Given the description of an element on the screen output the (x, y) to click on. 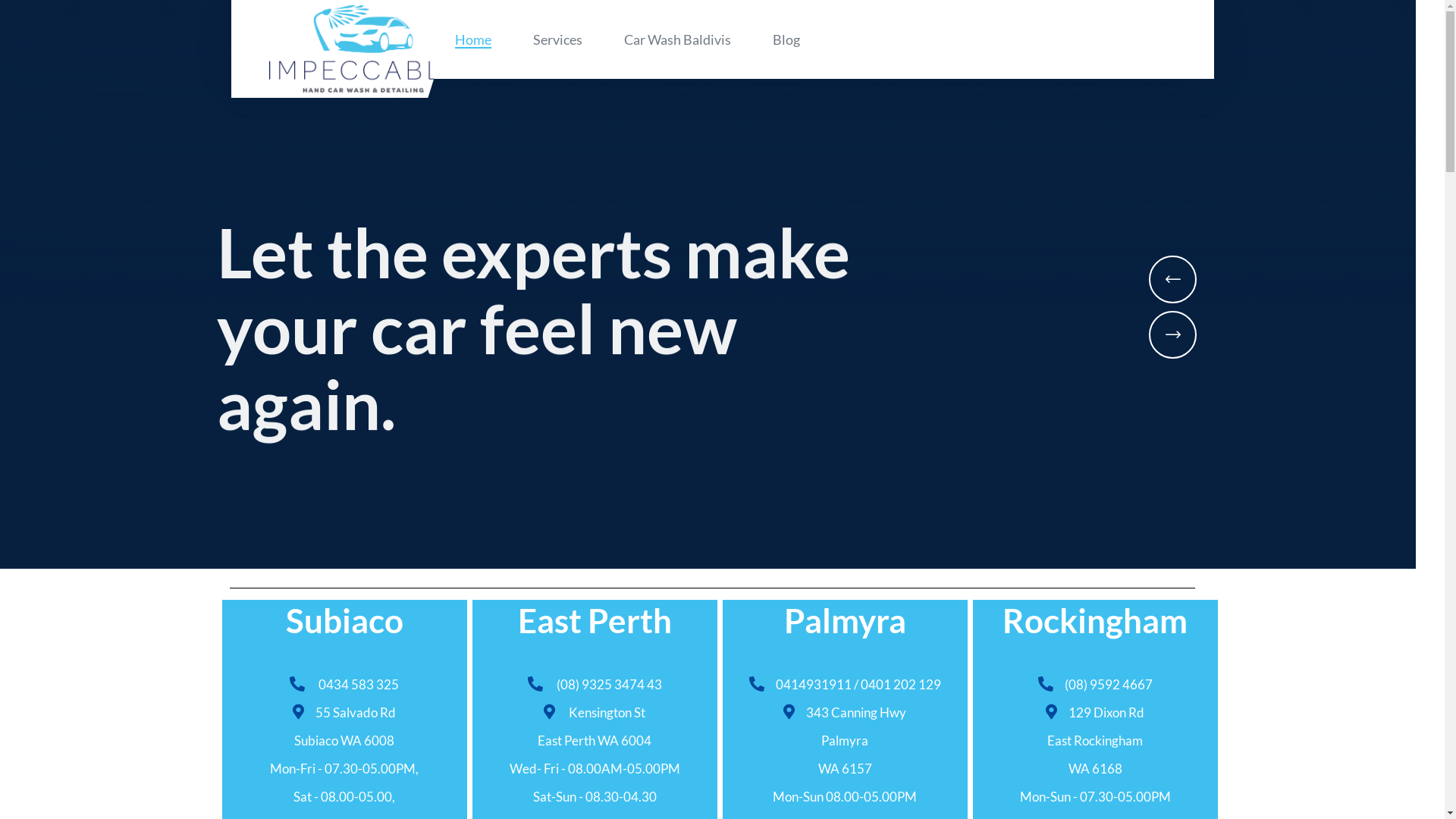
Home Element type: text (473, 39)
(08) 9592 4667 Element type: text (1108, 684)
Blog Element type: text (785, 39)
Car Wash Baldivis Element type: text (676, 39)
Services Element type: text (556, 39)
